Given the description of an element on the screen output the (x, y) to click on. 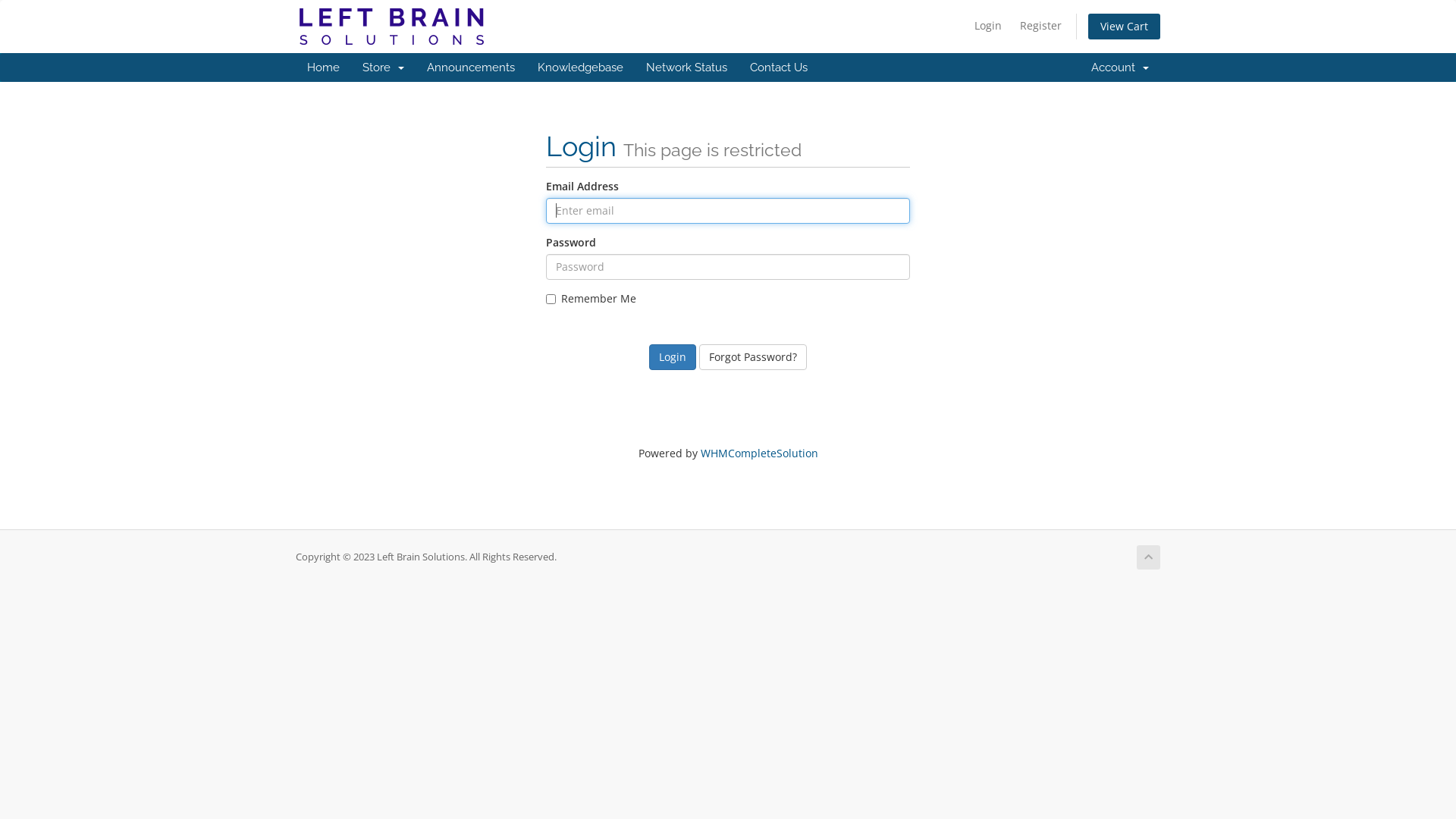
Network Status Element type: text (686, 67)
Knowledgebase Element type: text (580, 67)
Announcements Element type: text (470, 67)
Account   Element type: text (1119, 67)
View Cart Element type: text (1124, 26)
WHMCompleteSolution Element type: text (759, 452)
Login Element type: text (987, 25)
Home Element type: text (323, 67)
Login Element type: text (672, 357)
Register Element type: text (1040, 25)
Forgot Password? Element type: text (752, 357)
Contact Us Element type: text (778, 67)
Store   Element type: text (383, 67)
